Given the description of an element on the screen output the (x, y) to click on. 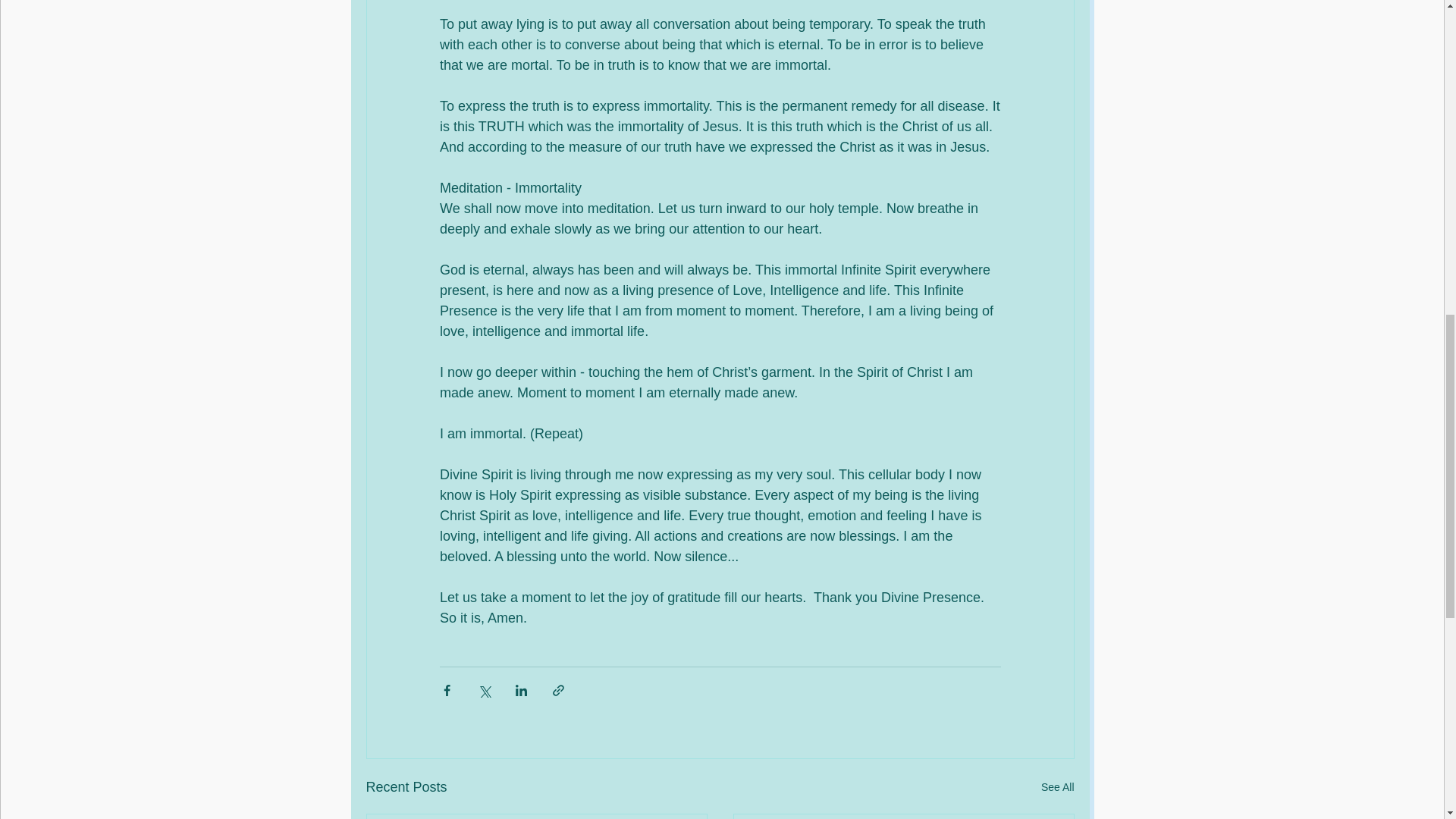
See All (1057, 787)
